Given the description of an element on the screen output the (x, y) to click on. 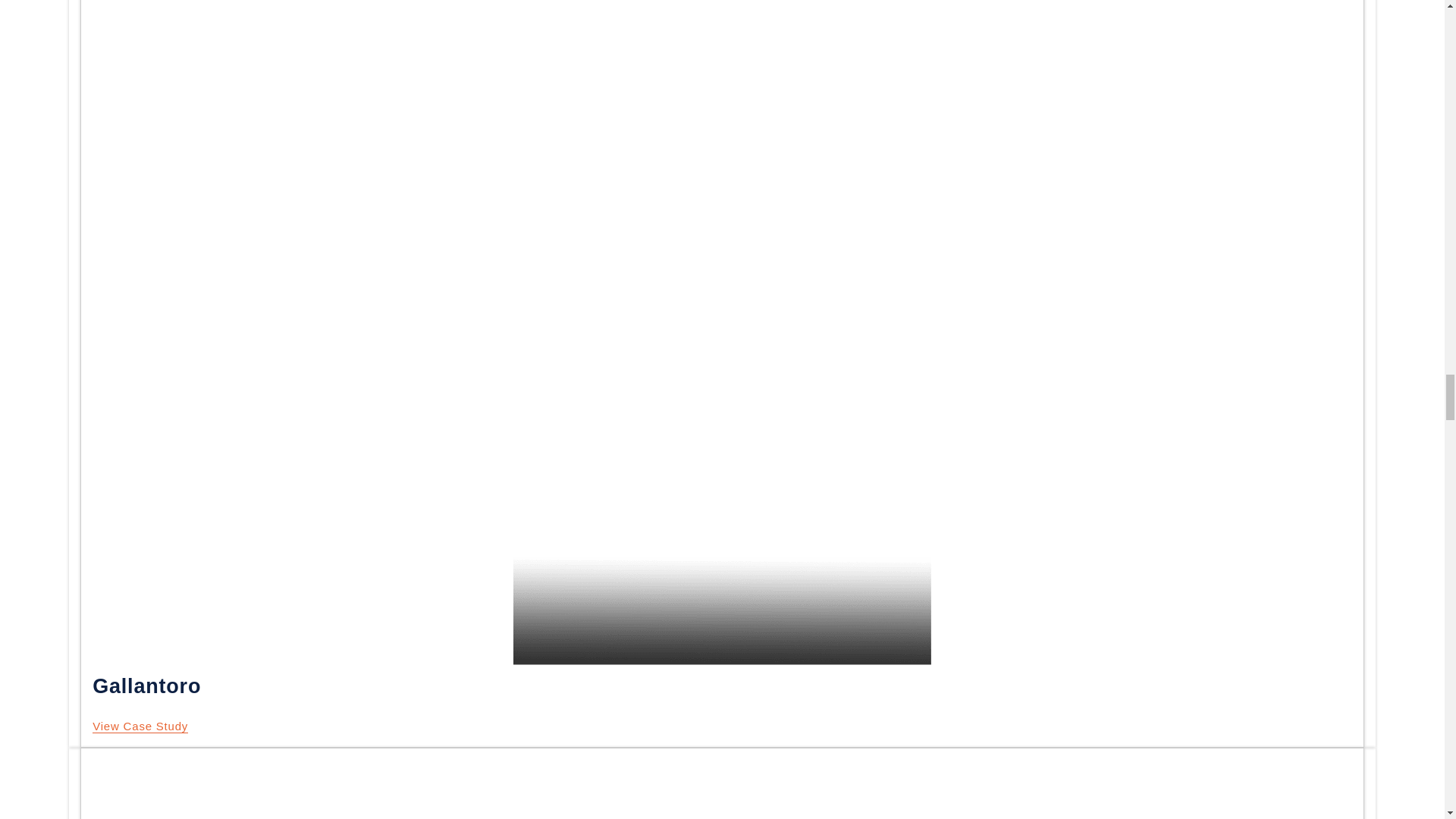
Gallantoro (140, 726)
